Given the description of an element on the screen output the (x, y) to click on. 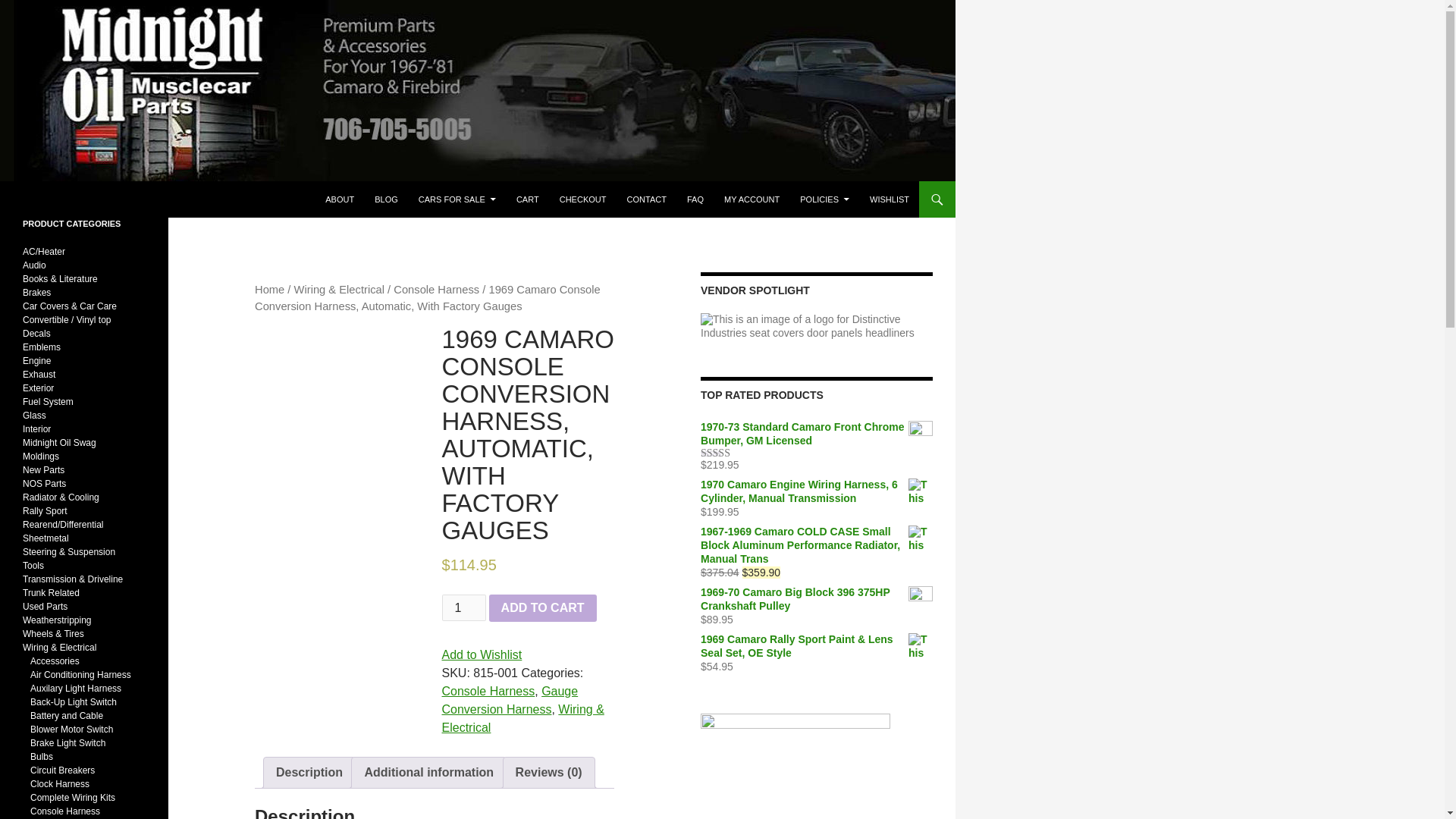
Description (309, 771)
CONTACT (646, 198)
POLICIES (824, 198)
CART (527, 198)
CHECKOUT (582, 198)
Console Harness (487, 690)
WISHLIST (889, 198)
BLOG (386, 198)
